Given the description of an element on the screen output the (x, y) to click on. 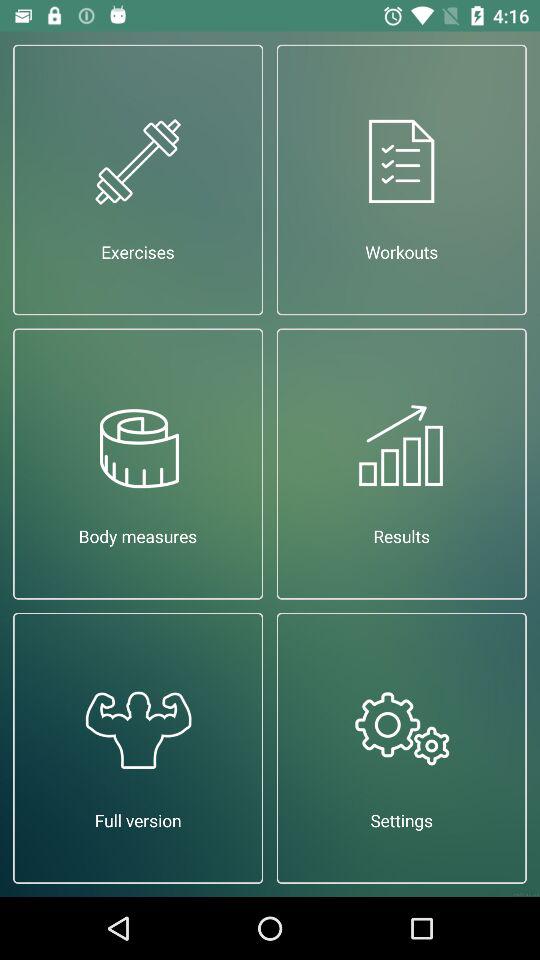
tap icon to the left of the settings item (137, 748)
